Given the description of an element on the screen output the (x, y) to click on. 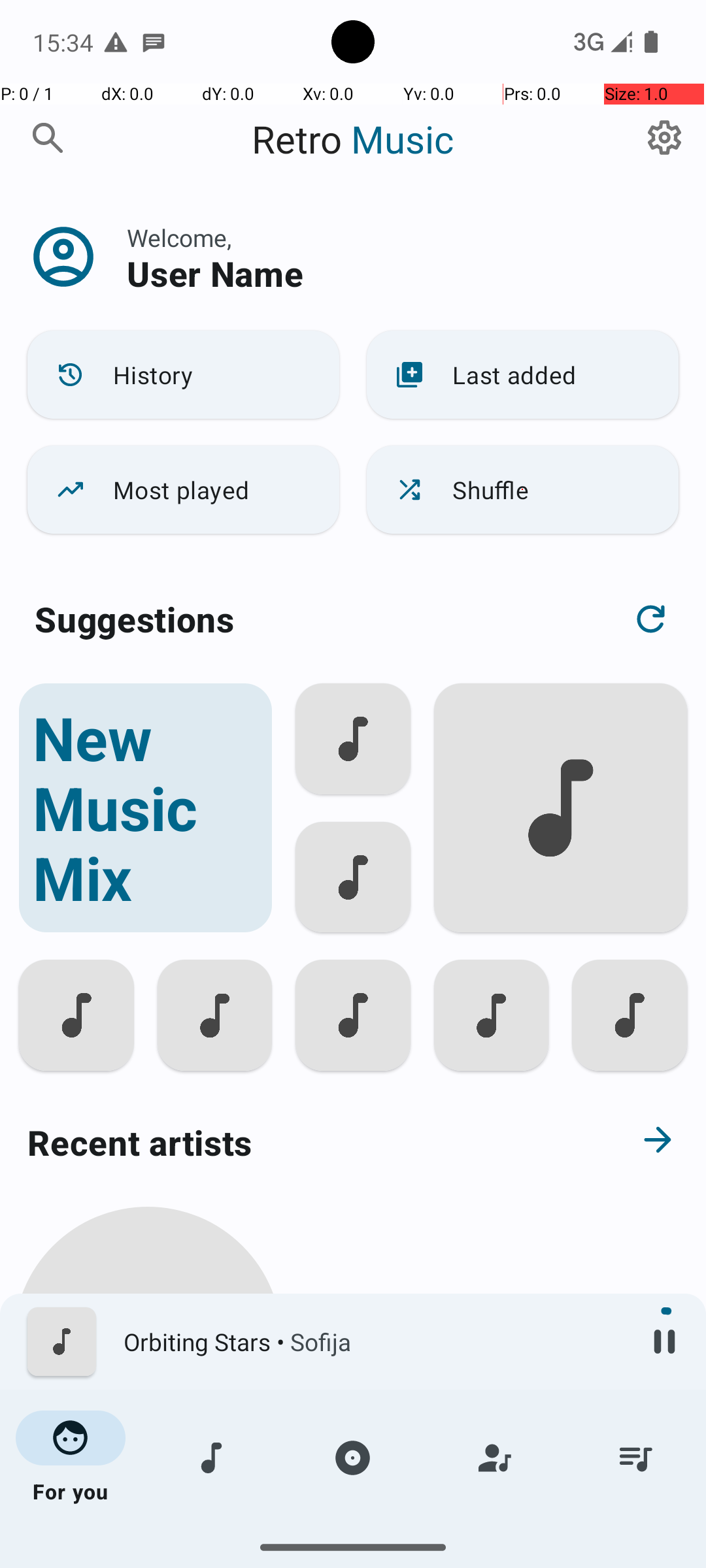
Orbiting Stars • Sofija Element type: android.widget.TextView (372, 1341)
Thiago Element type: android.widget.TextView (147, 1503)
